Given the description of an element on the screen output the (x, y) to click on. 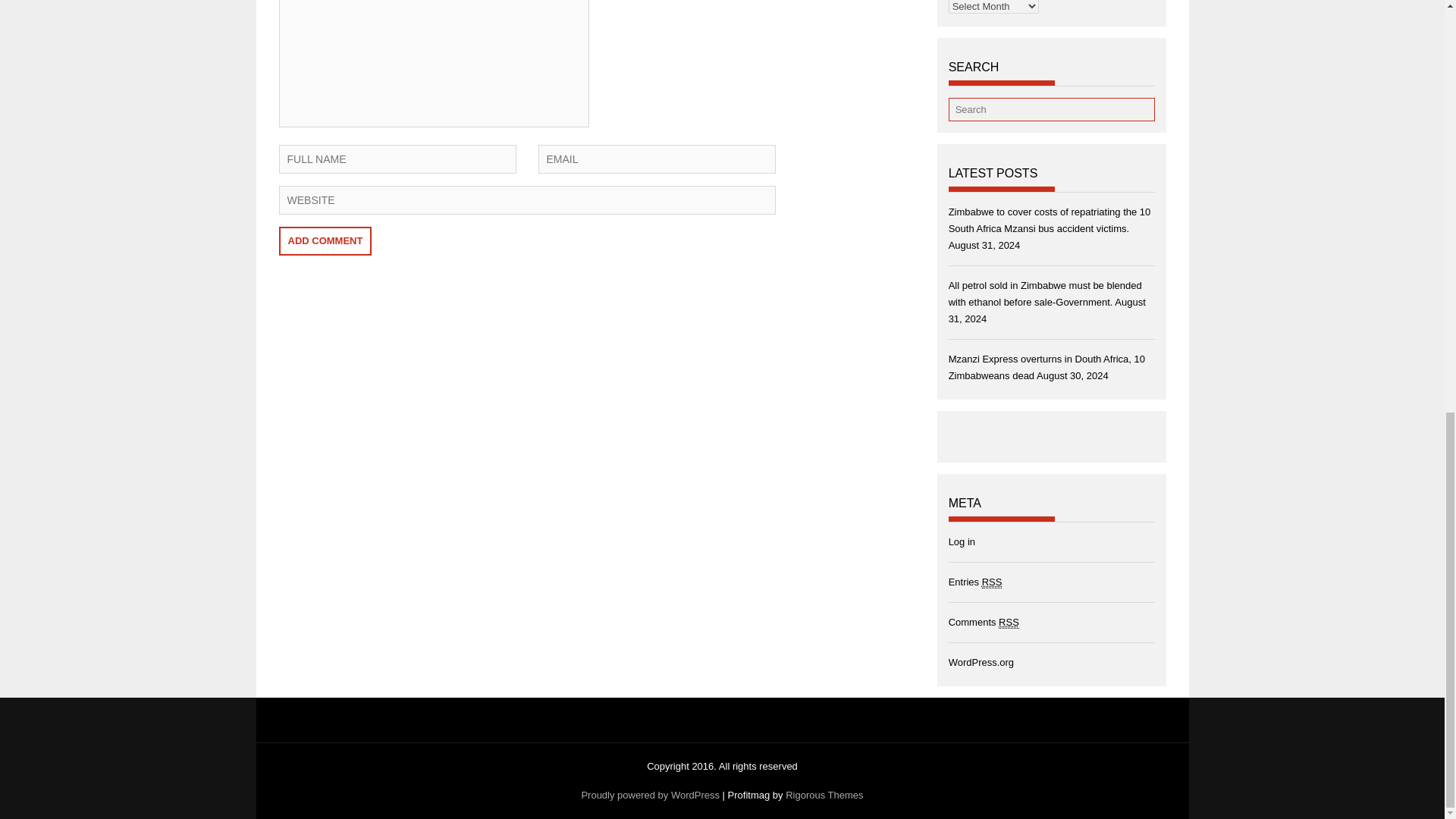
Add Comment (325, 240)
Really Simple Syndication (992, 582)
Really Simple Syndication (1008, 622)
